Given the description of an element on the screen output the (x, y) to click on. 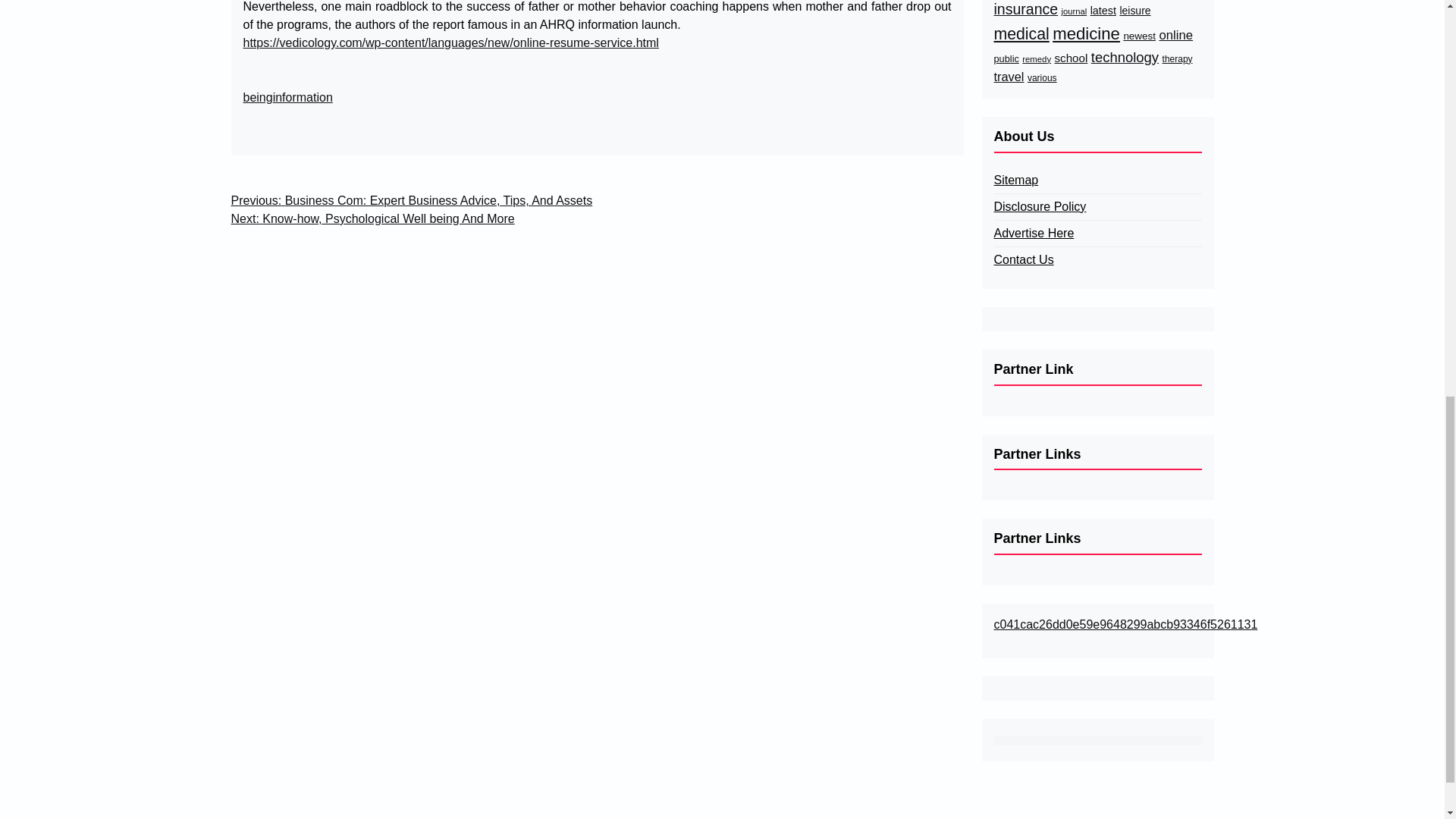
information (303, 97)
Seedbacklink (1096, 740)
Next: Know-how, Psychological Well being And More (371, 218)
being (257, 97)
